Given the description of an element on the screen output the (x, y) to click on. 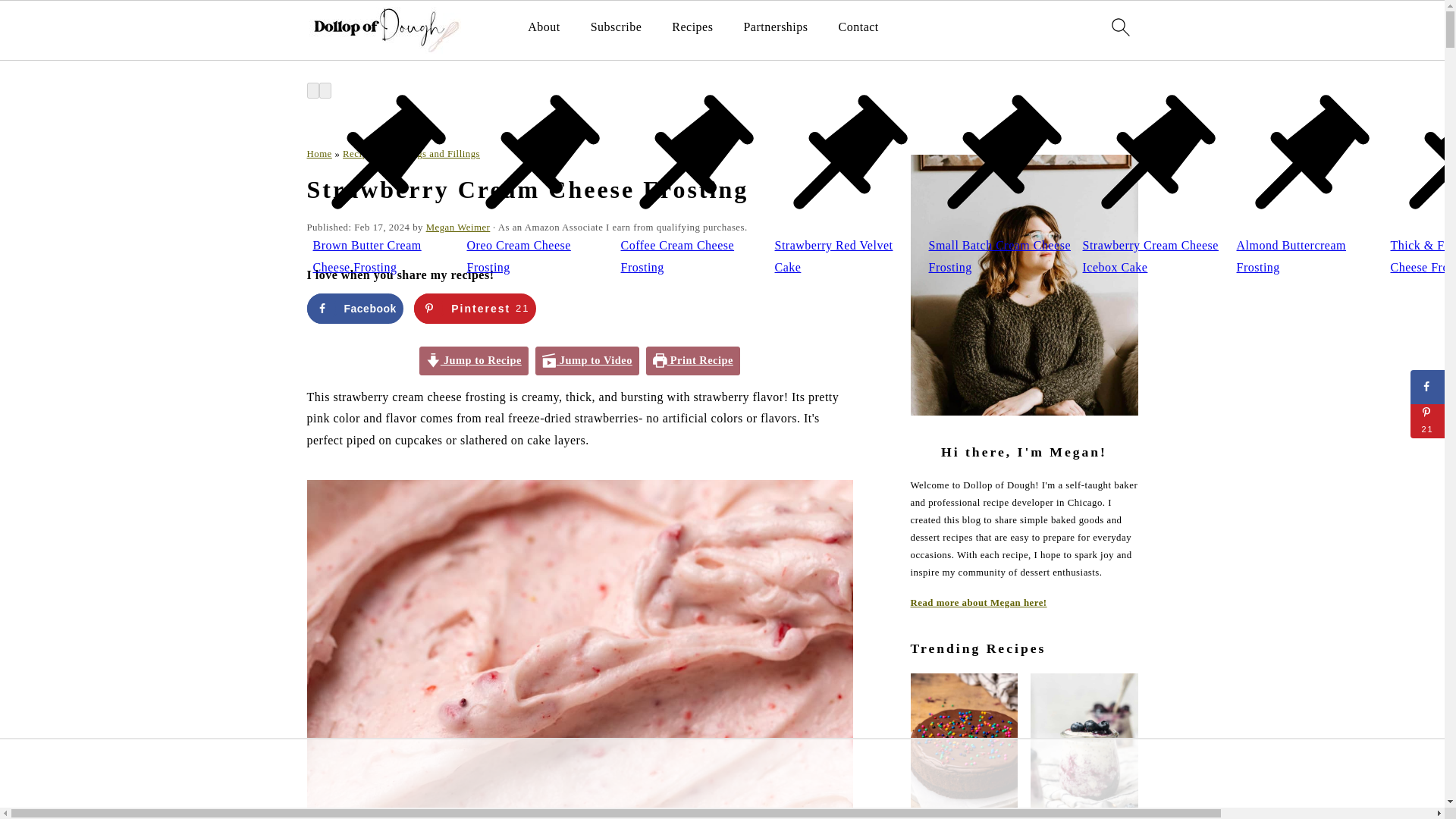
About (543, 26)
Subscribe (616, 26)
Partnerships (775, 26)
Recipes (692, 26)
Home (318, 153)
Save to Pinterest (474, 308)
search icon (1119, 26)
Contact (858, 26)
Share on Facebook (354, 308)
